Given the description of an element on the screen output the (x, y) to click on. 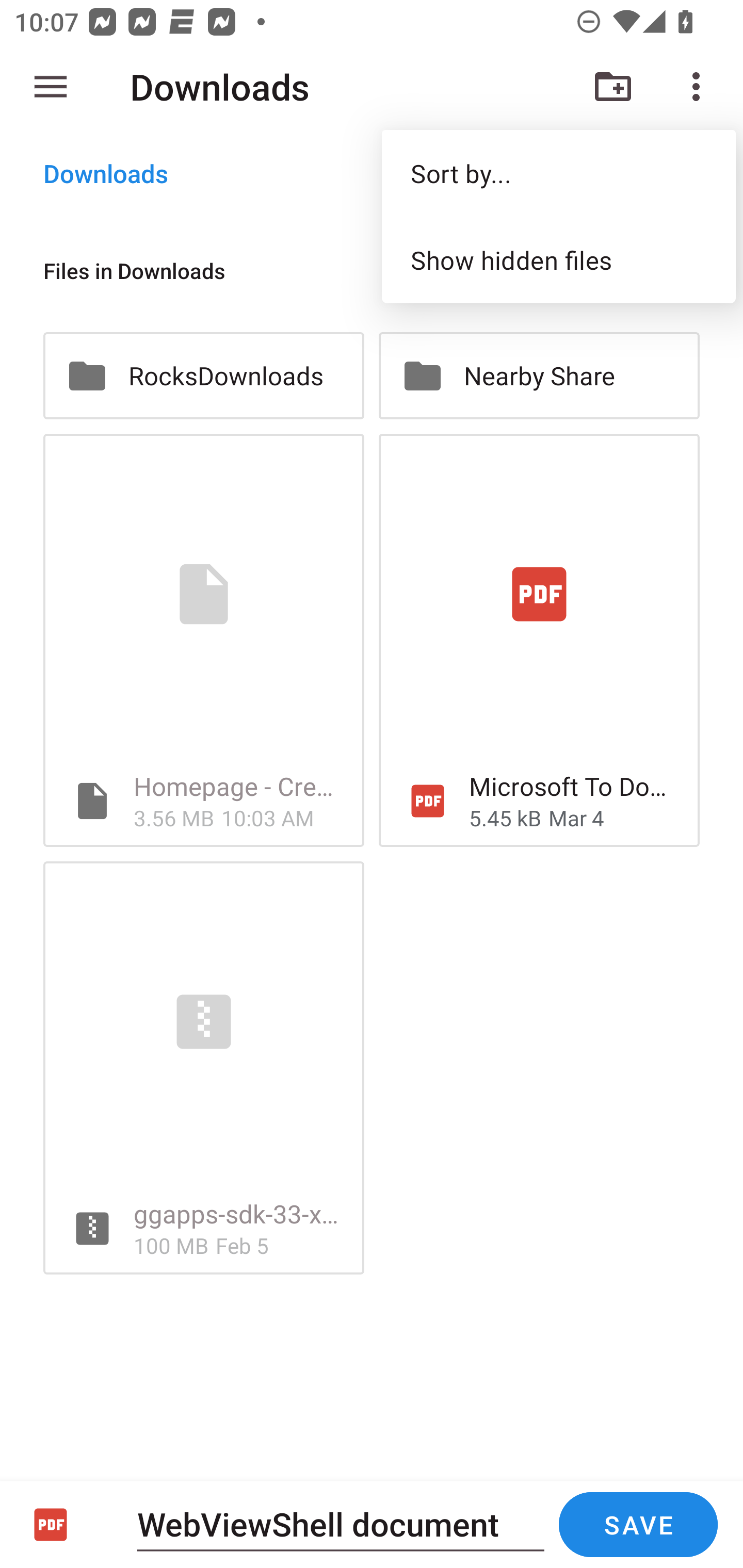
Sort by... (558, 173)
Show hidden files (558, 259)
